Given the description of an element on the screen output the (x, y) to click on. 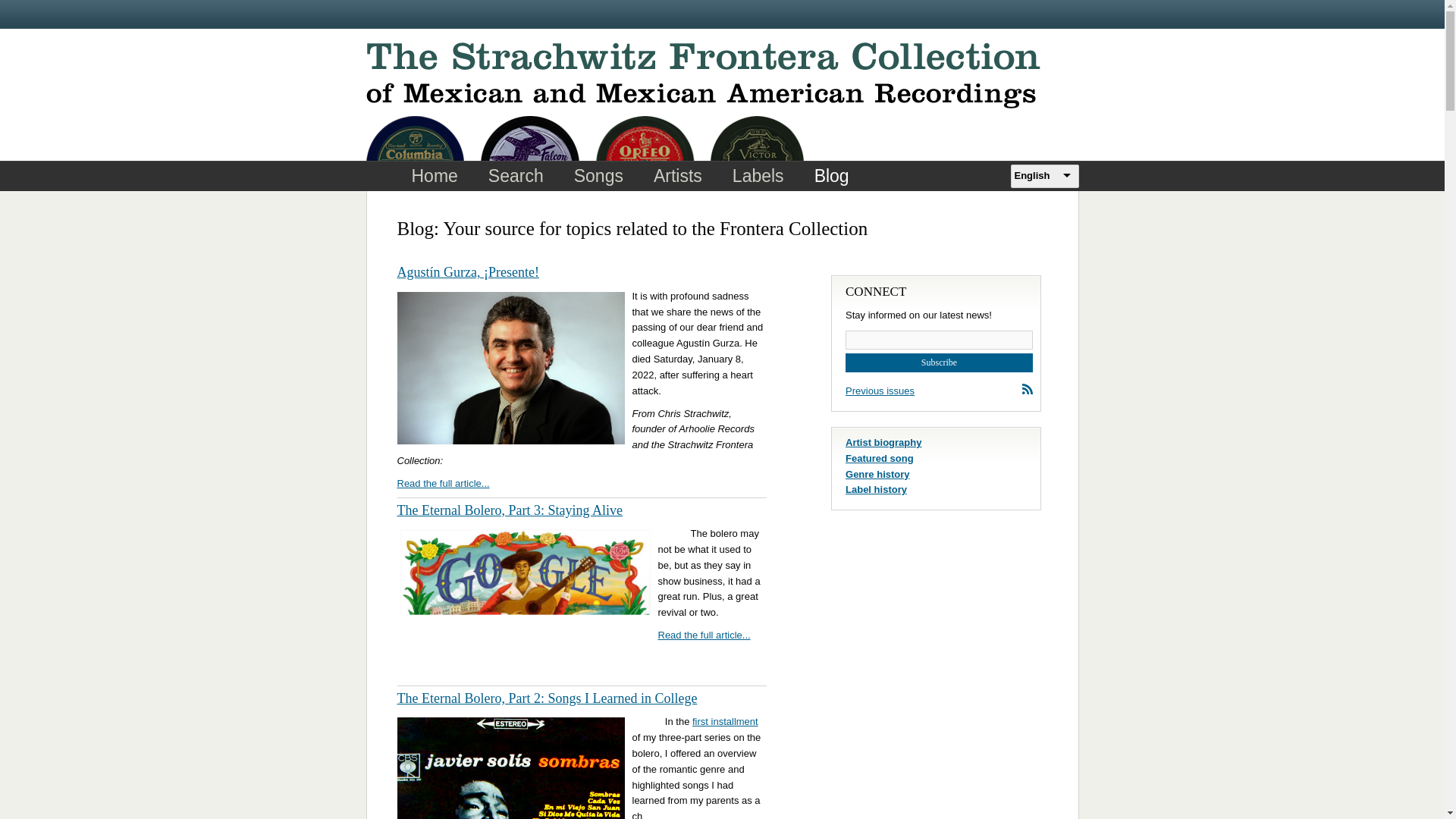
Home (433, 174)
Labels (758, 174)
Read the full article... (704, 634)
Search (516, 174)
Blog (831, 174)
The Eternal Bolero, Part 2: Songs I Learned in College (547, 698)
Artists (678, 174)
Songs (599, 174)
The Eternal Bolero, Part 3: Staying Alive (510, 509)
Read the full article... (443, 482)
